Given the description of an element on the screen output the (x, y) to click on. 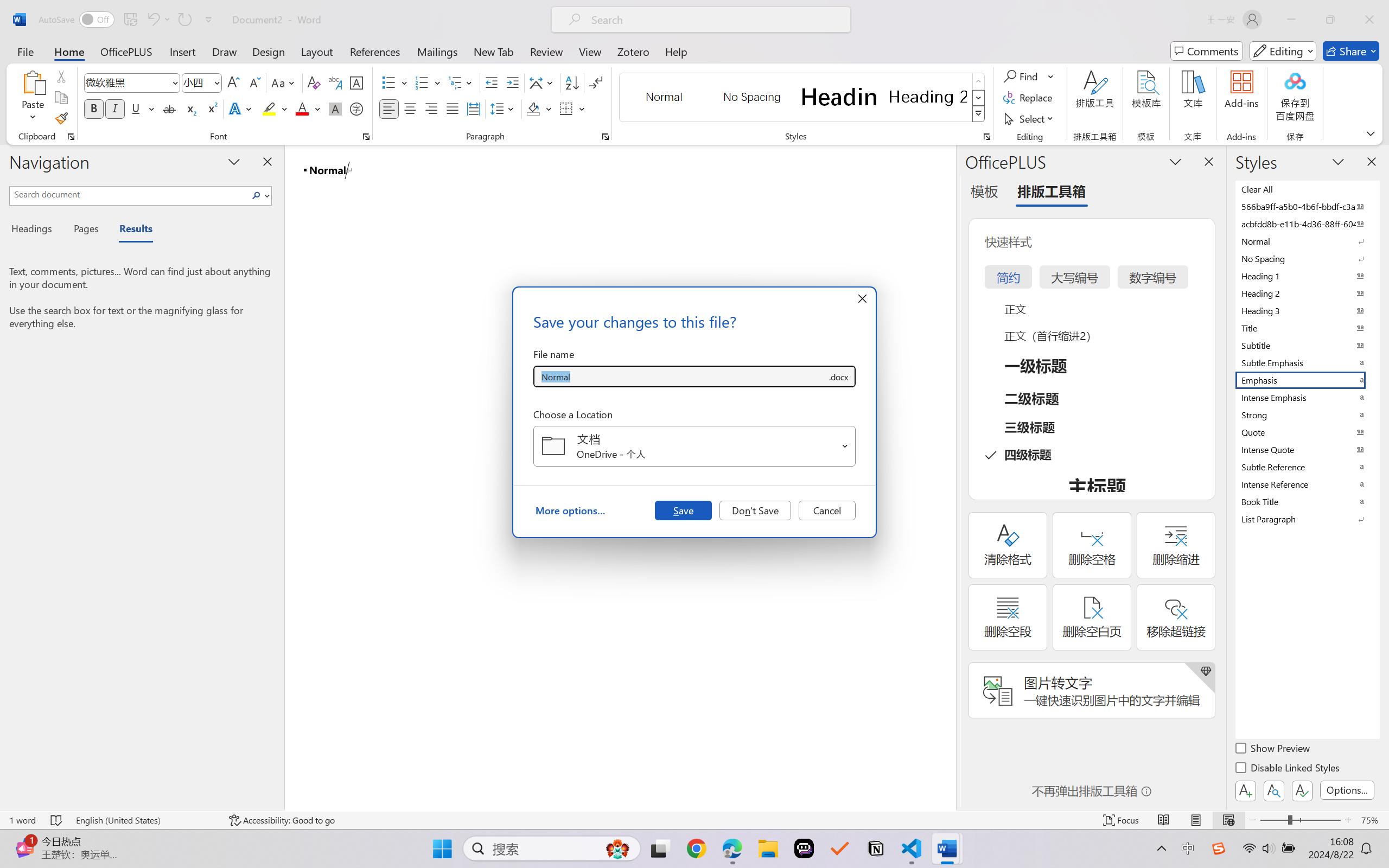
Underline (142, 108)
Clear Formatting (313, 82)
Sort... (571, 82)
Font (132, 82)
Row Down (978, 97)
Numbering (421, 82)
AutomationID: DynamicSearchBoxGleamImage (617, 848)
Row up (978, 81)
File name (680, 376)
Print Layout (1196, 819)
Font... (365, 136)
Subtle Emphasis (1306, 362)
